Given the description of an element on the screen output the (x, y) to click on. 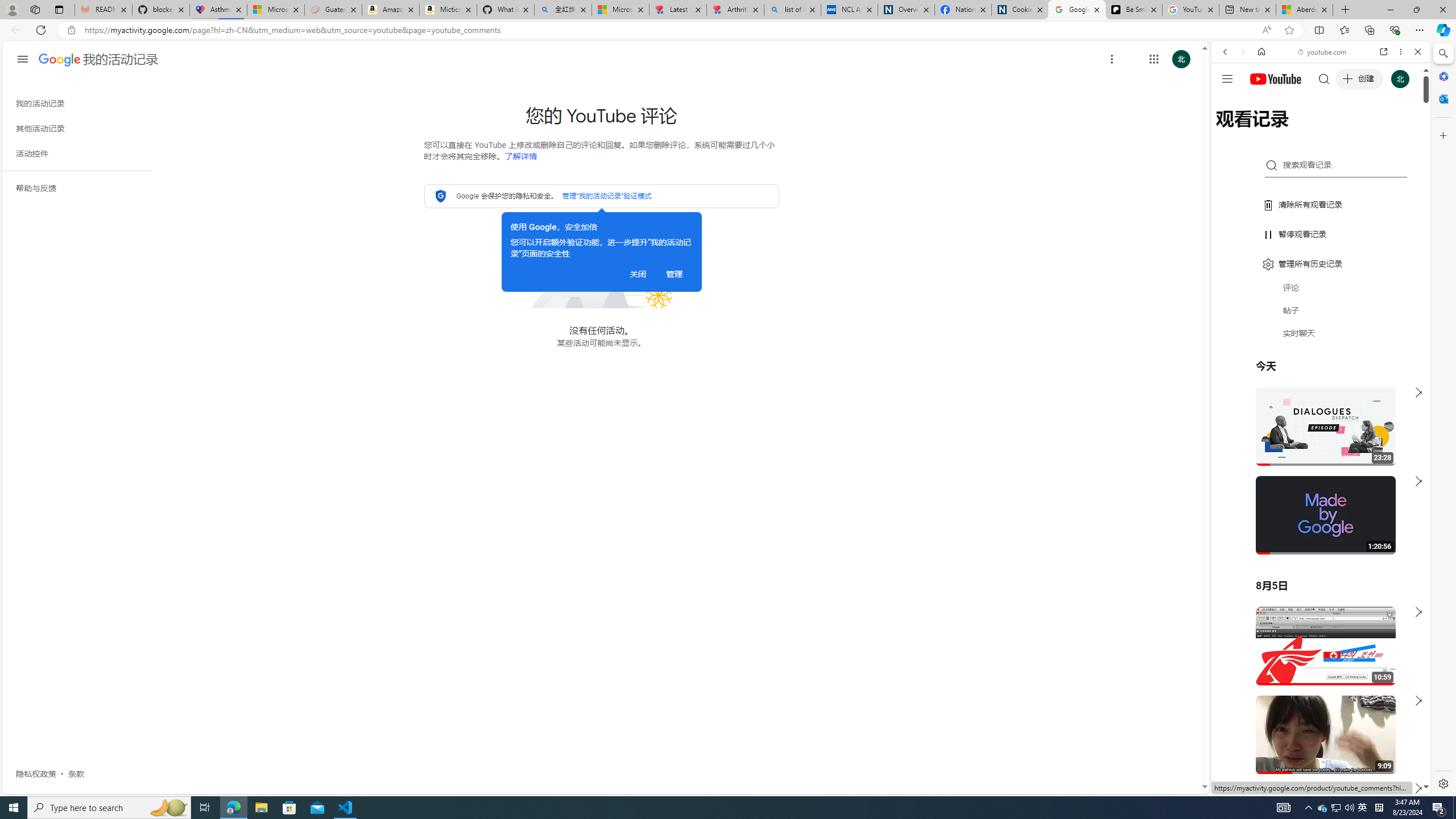
US[ju] (1249, 785)
Trailer #2 [HD] (1320, 336)
YouTube (1315, 655)
